Given the description of an element on the screen output the (x, y) to click on. 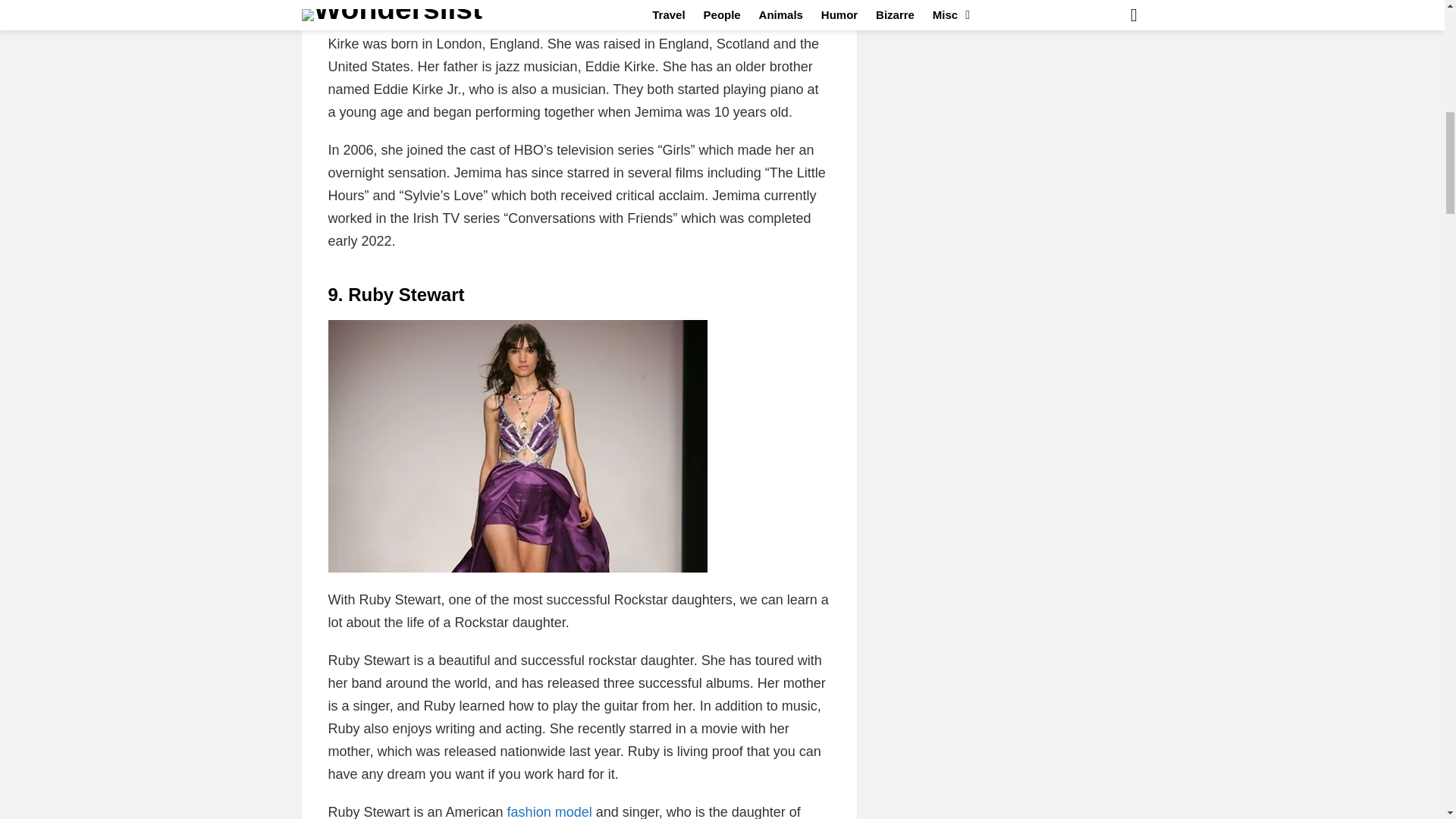
Ruby Stewart Veronika Jeanvie MBFW (516, 446)
fashion model (549, 811)
Top 10 Hottest Modern Fashion Models (549, 811)
